Given the description of an element on the screen output the (x, y) to click on. 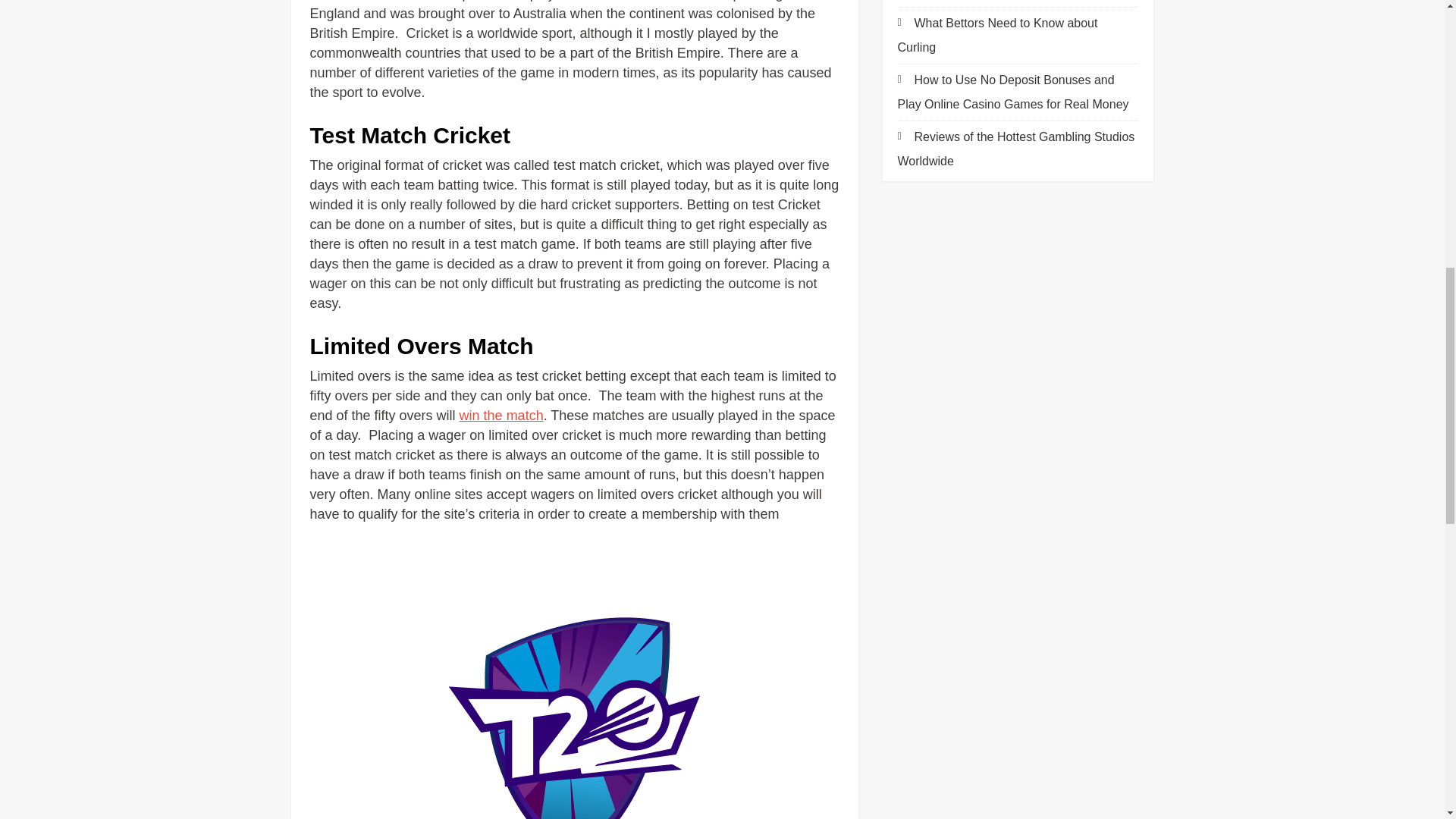
win the match (501, 415)
Reviews of the Hottest Gambling Studios Worldwide (1016, 148)
What Bettors Need to Know about Curling (997, 35)
